Given the description of an element on the screen output the (x, y) to click on. 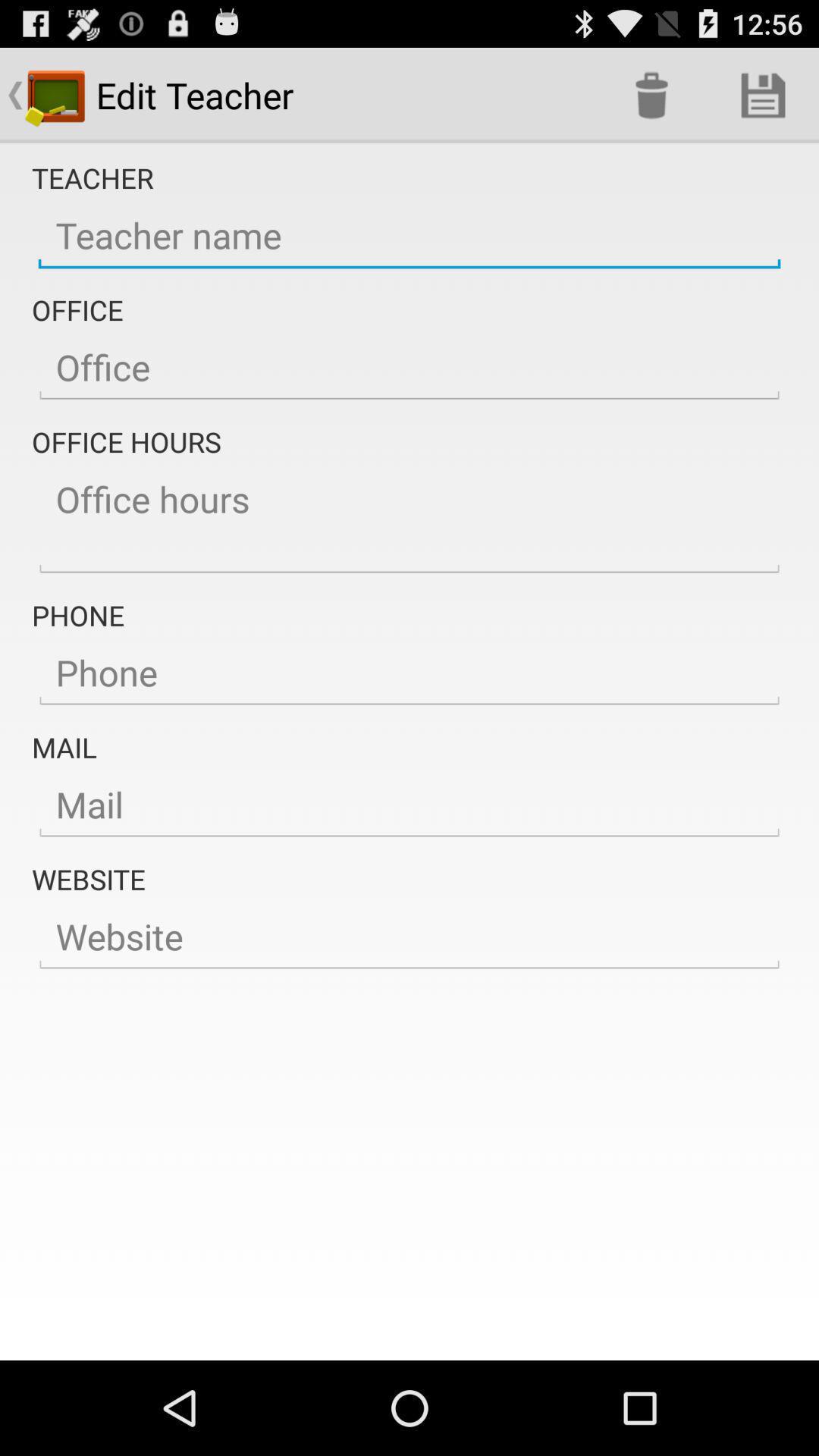
type in (409, 673)
